Given the description of an element on the screen output the (x, y) to click on. 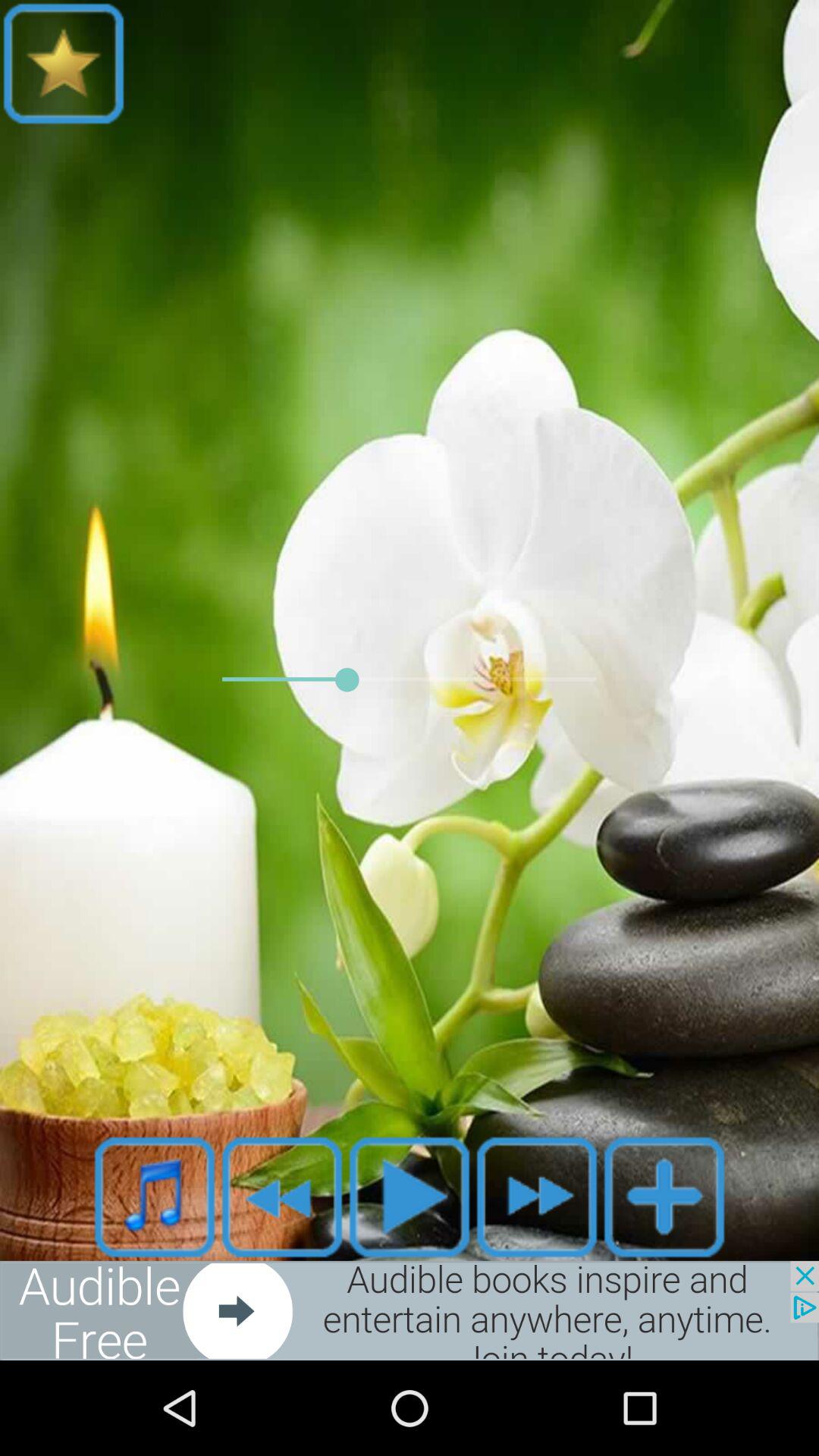
play option (409, 1196)
